Given the description of an element on the screen output the (x, y) to click on. 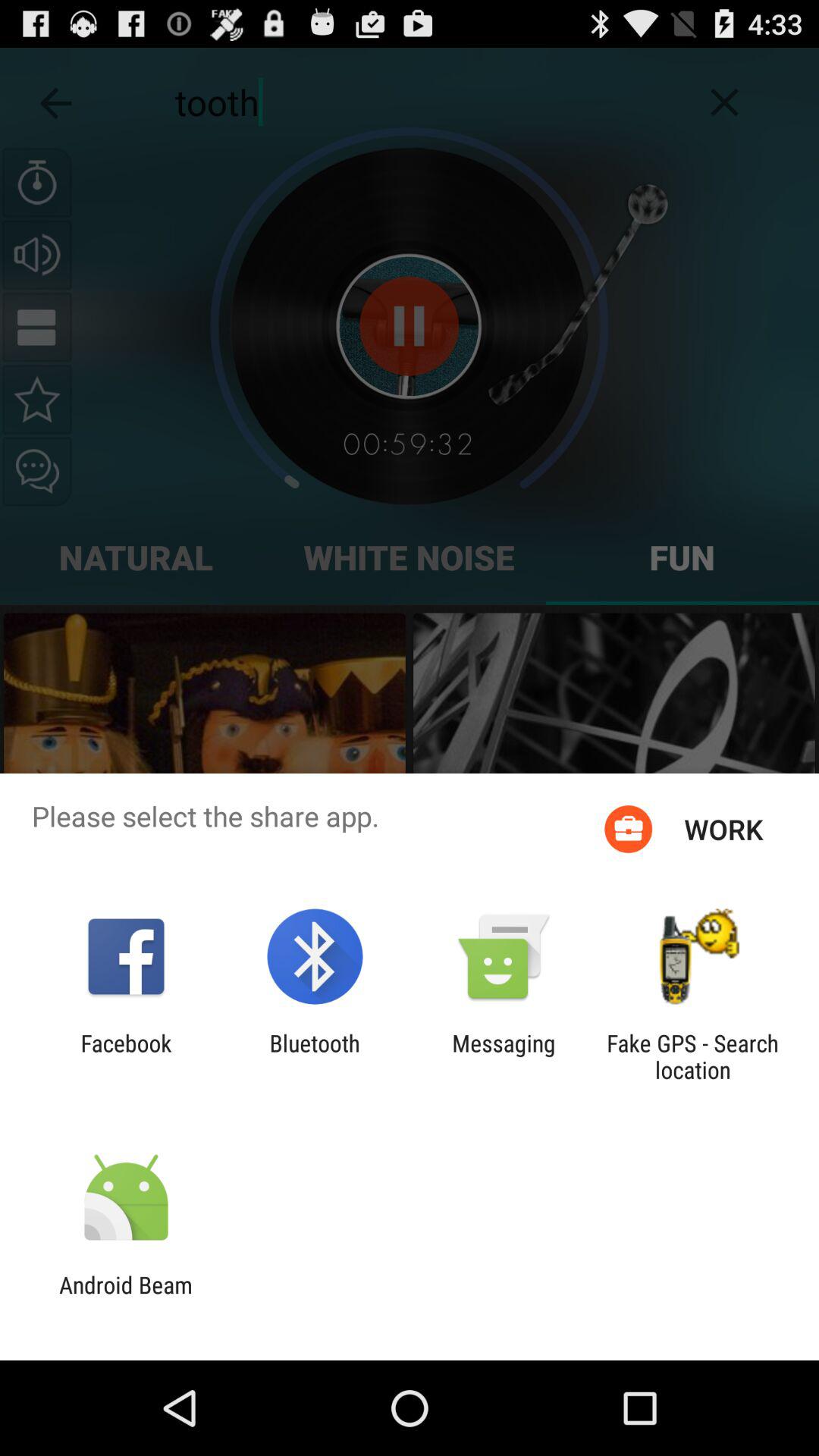
tap icon to the right of the messaging item (692, 1056)
